Given the description of an element on the screen output the (x, y) to click on. 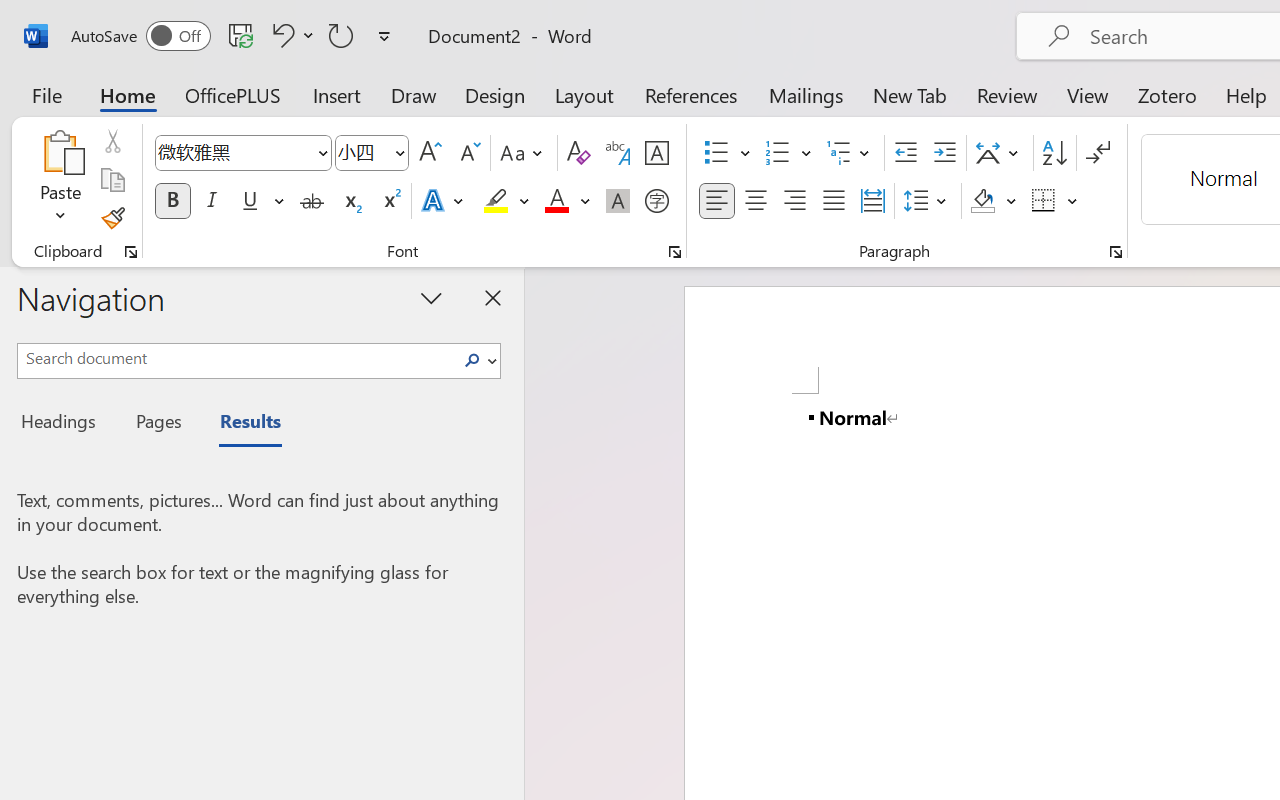
Enclose Characters... (656, 201)
Paste (60, 179)
View (1087, 94)
Decrease Indent (906, 153)
Layout (584, 94)
Undo Text Fill Effect (280, 35)
Font Color (567, 201)
Multilevel List (850, 153)
Design (495, 94)
Mailings (806, 94)
Justify (834, 201)
Paste (60, 151)
Text Highlight Color Yellow (495, 201)
Open (399, 152)
Italic (212, 201)
